Given the description of an element on the screen output the (x, y) to click on. 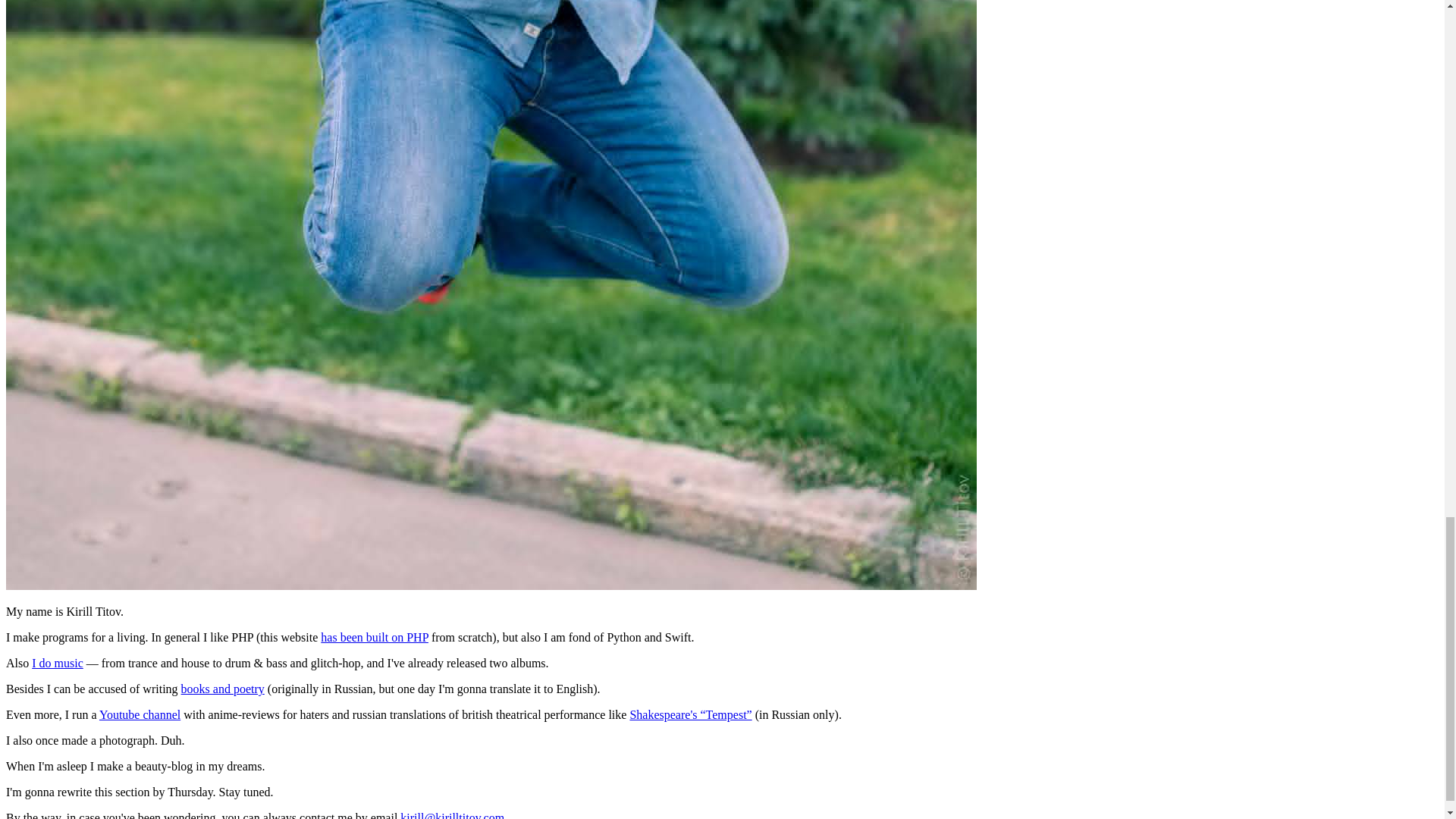
has been built on PHP (374, 636)
Youtube channel (139, 714)
books and poetry (222, 688)
I do music (57, 662)
